Given the description of an element on the screen output the (x, y) to click on. 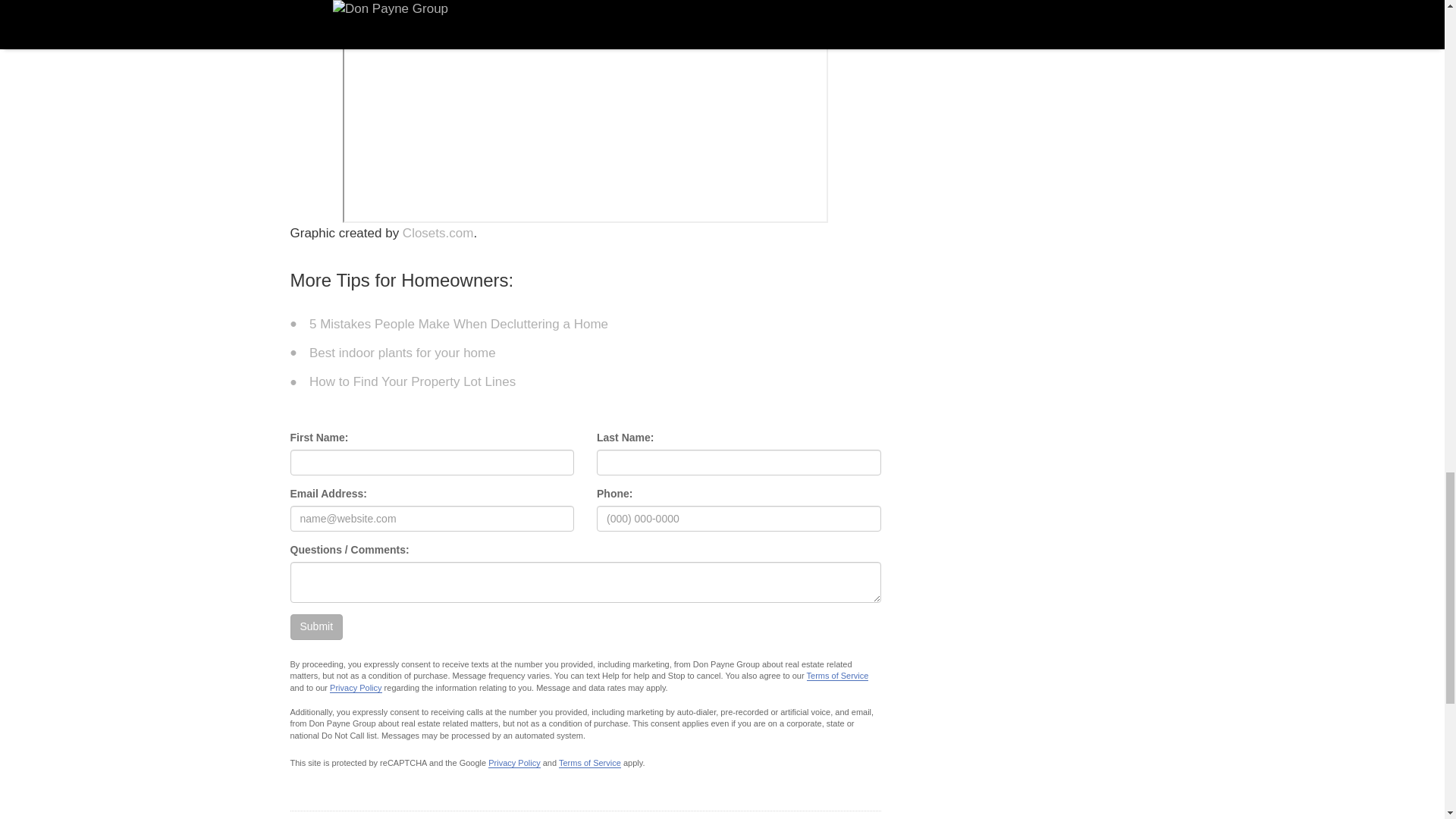
Please enter your question (584, 581)
